Given the description of an element on the screen output the (x, y) to click on. 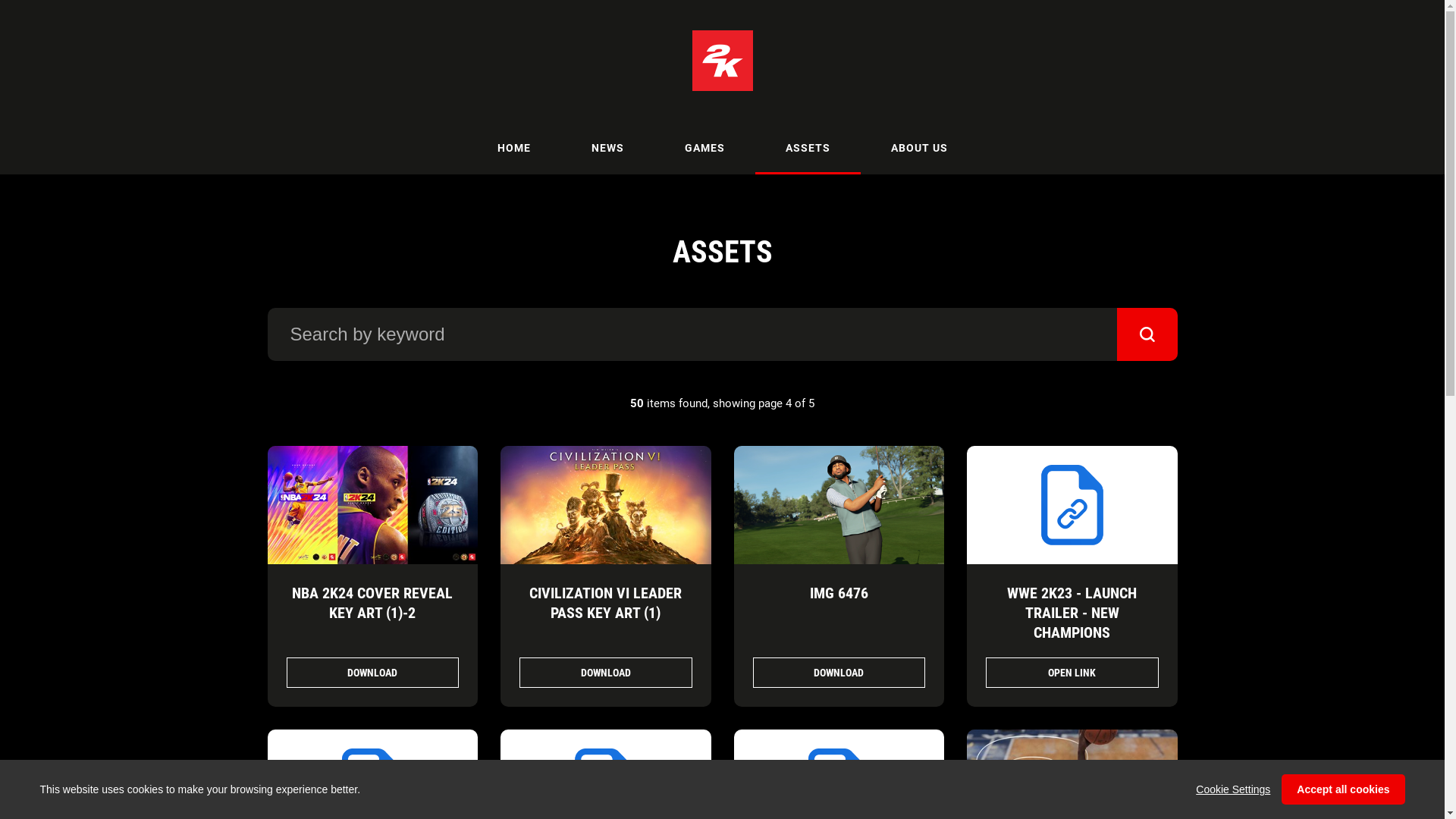
ABOUT US Element type: text (918, 147)
WWE 2K23 - LAUNCH TRAILER - NEW CHAMPIONS Element type: text (1071, 612)
Accept all cookies Element type: text (1342, 789)
HOME Element type: text (514, 147)
ASSETS Element type: text (807, 147)
CIVILIZATION VI LEADER PASS KEY ART (1) Element type: text (605, 602)
NEWS Element type: text (607, 147)
NBA 2K24 COVER REVEAL KEY ART (1)-2 Element type: text (371, 602)
IMG 6476 Element type: text (838, 592)
Go Element type: hover (1146, 333)
Cookie Settings Element type: text (1232, 789)
DOWNLOAD Element type: text (605, 672)
OPEN LINK Element type: text (1071, 672)
DOWNLOAD Element type: text (838, 672)
GAMES Element type: text (703, 147)
DOWNLOAD Element type: text (372, 672)
